Given the description of an element on the screen output the (x, y) to click on. 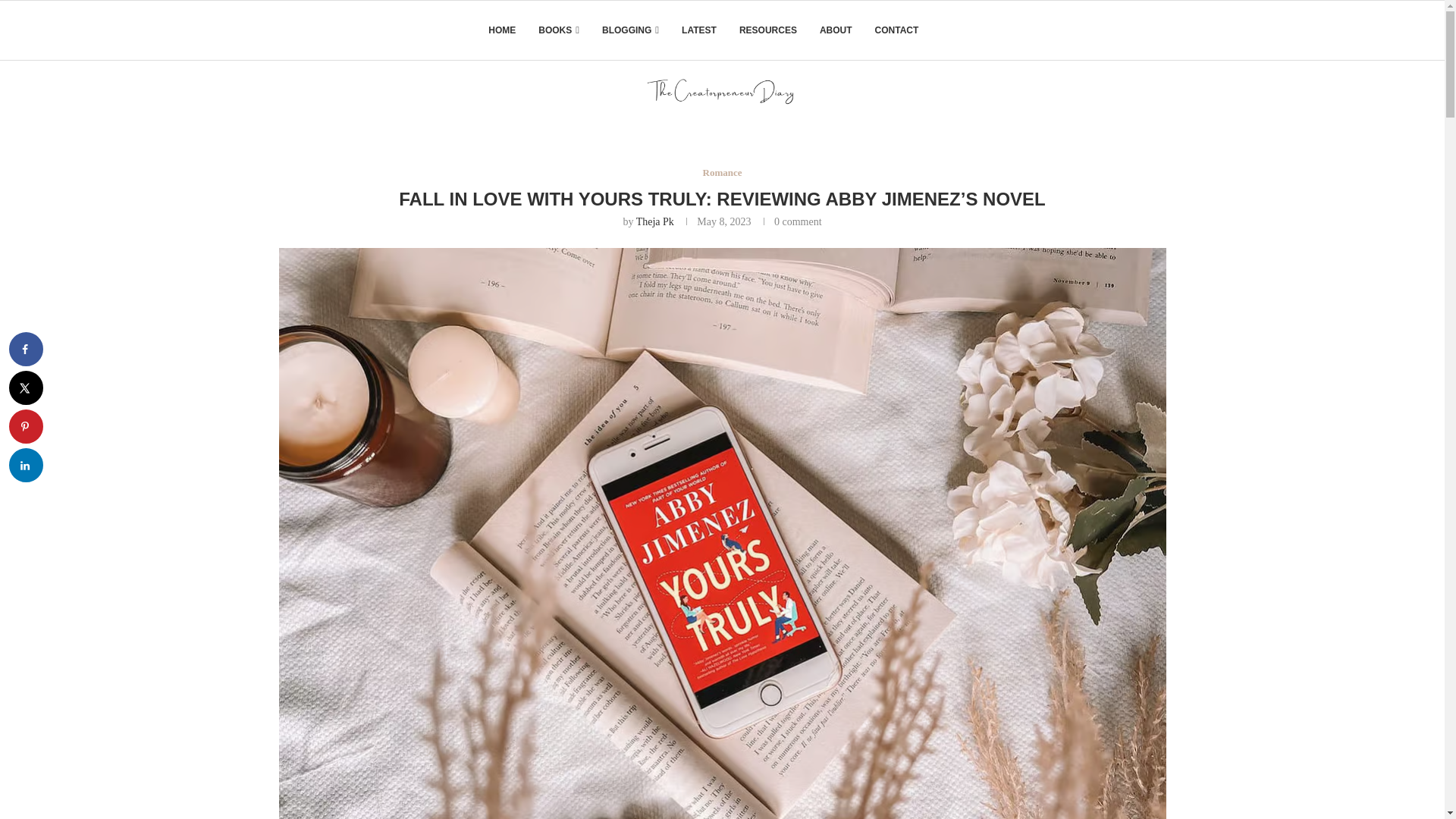
BLOGGING (630, 30)
RESOURCES (767, 30)
CONTACT (896, 30)
BOOKS (558, 30)
